Given the description of an element on the screen output the (x, y) to click on. 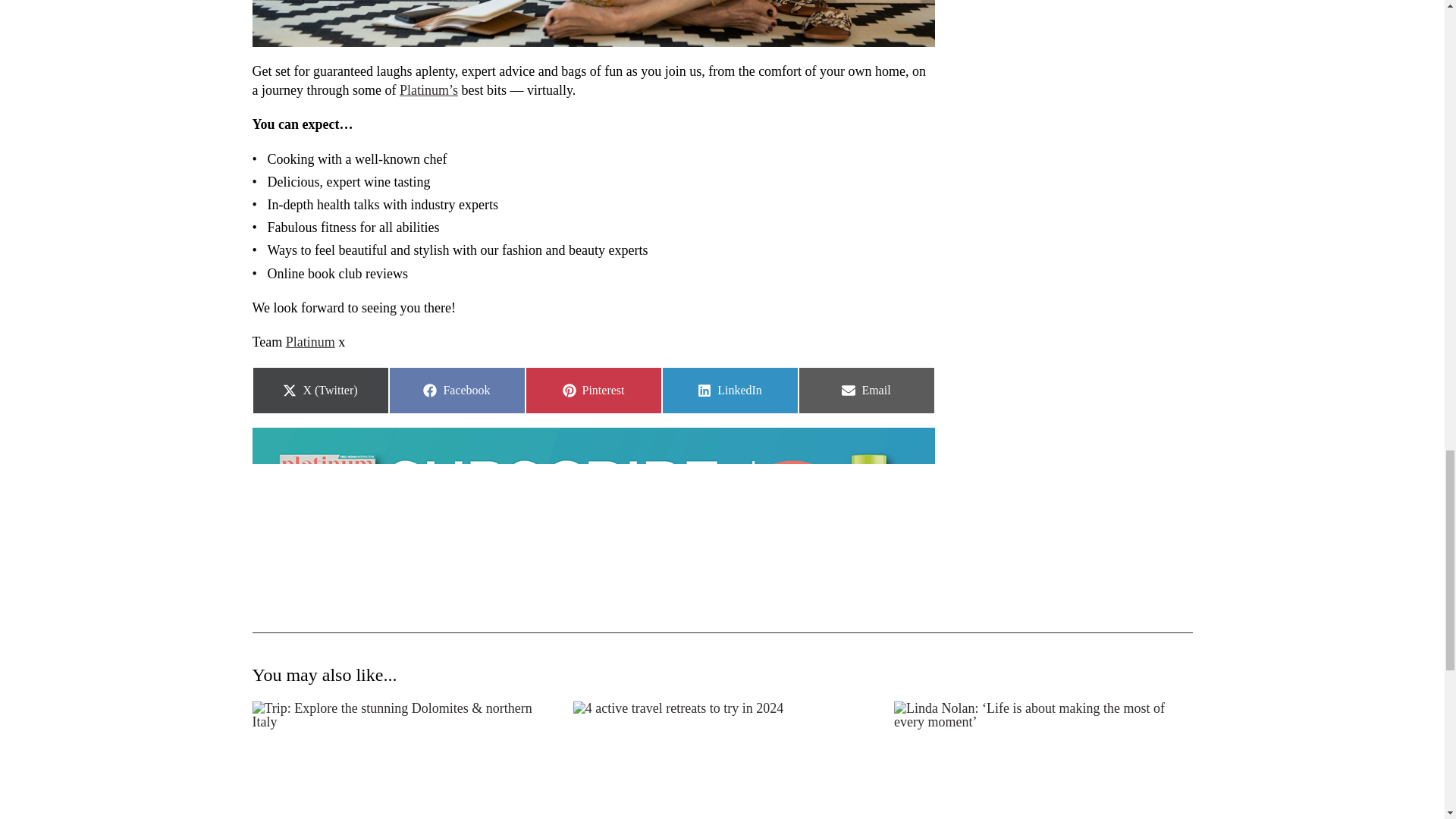
Platinum (456, 390)
